Given the description of an element on the screen output the (x, y) to click on. 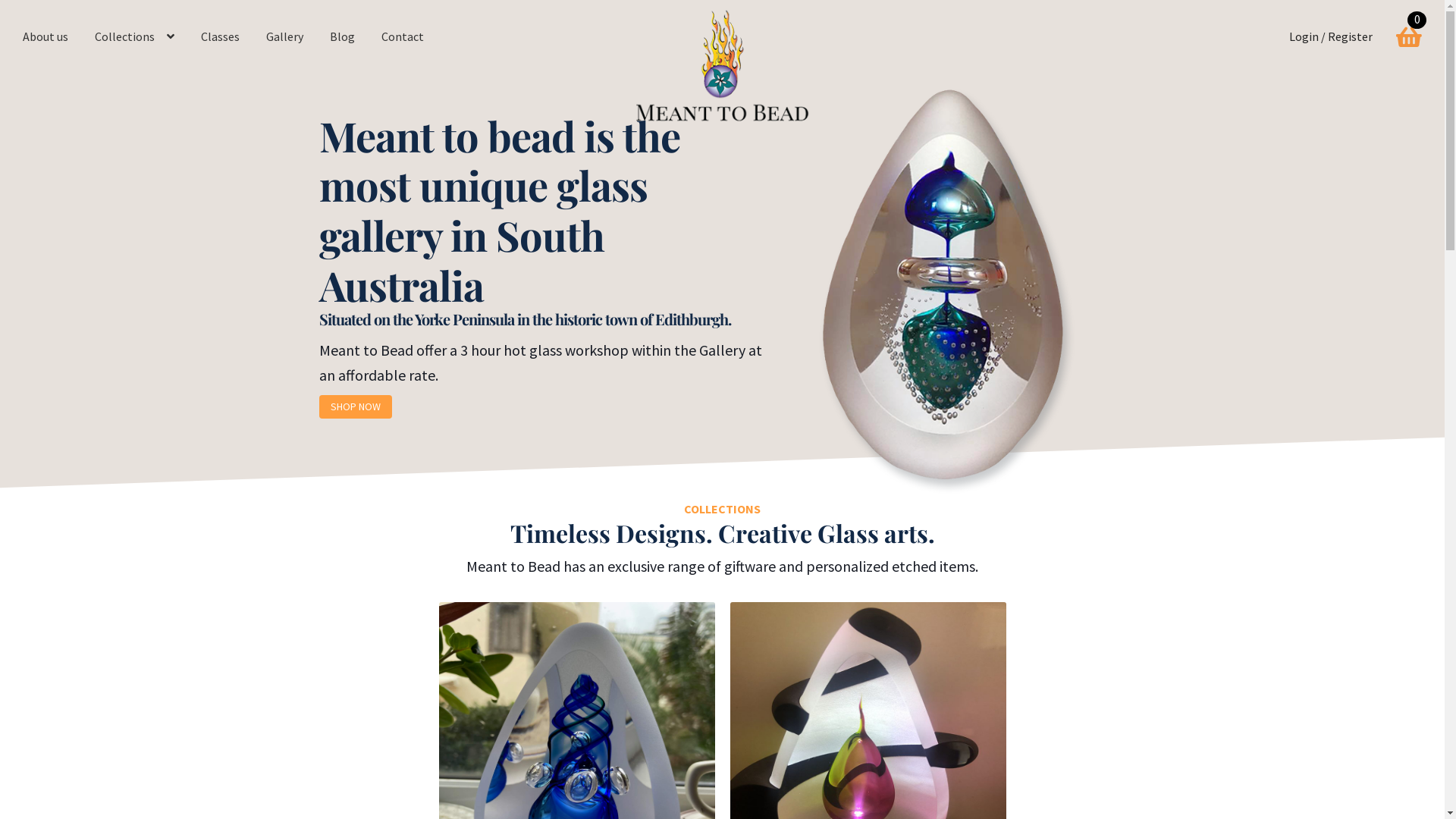
About us Element type: text (45, 36)
Blog Element type: text (342, 36)
Contact Element type: text (402, 36)
SHOP NOW Element type: text (355, 406)
0 Element type: text (1408, 27)
Collections Element type: text (134, 36)
Gallery Element type: text (284, 36)
Classes Element type: text (219, 36)
Login / Register Element type: text (1330, 36)
